Given the description of an element on the screen output the (x, y) to click on. 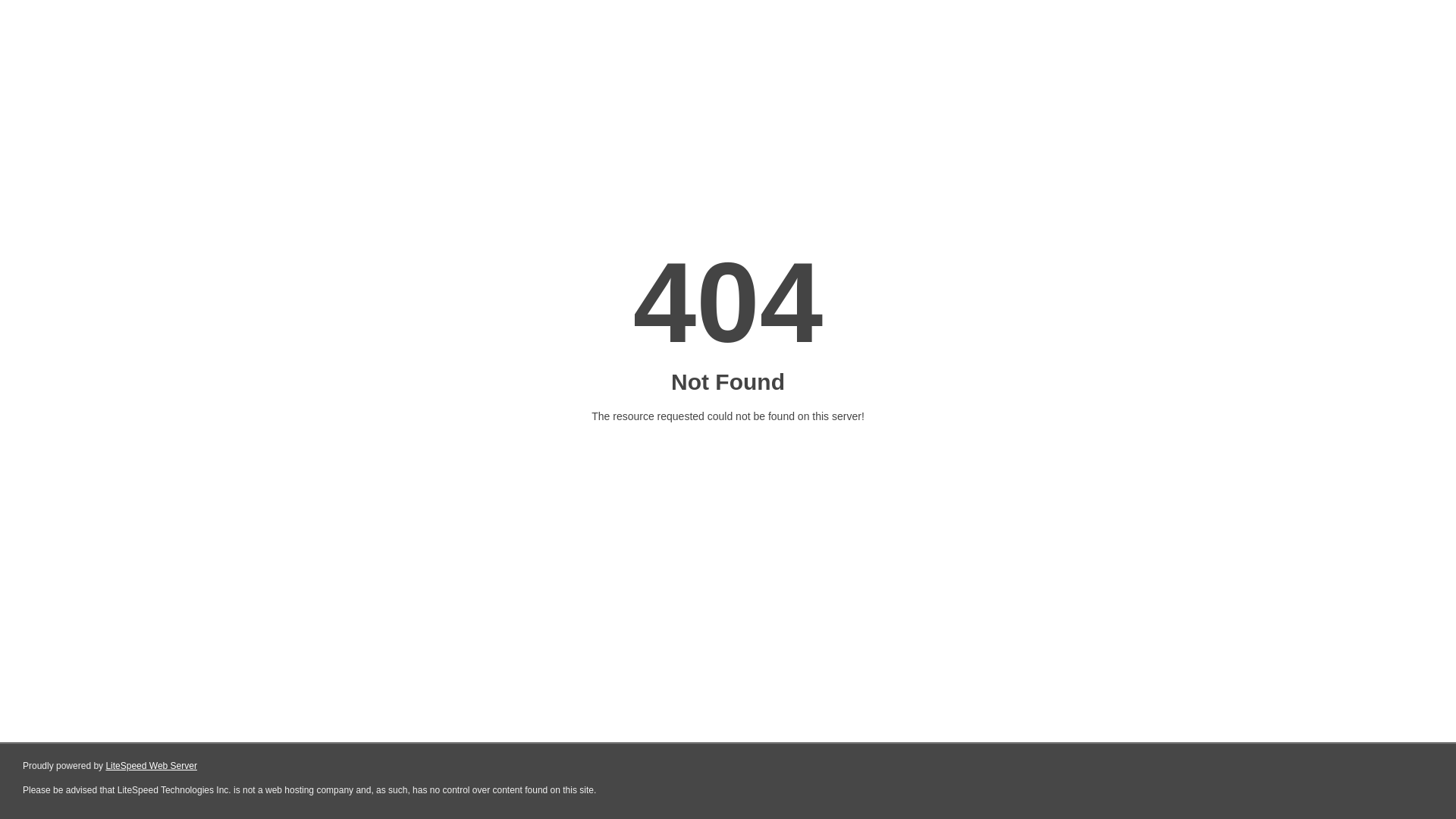
LiteSpeed Web Server Element type: text (151, 765)
